Given the description of an element on the screen output the (x, y) to click on. 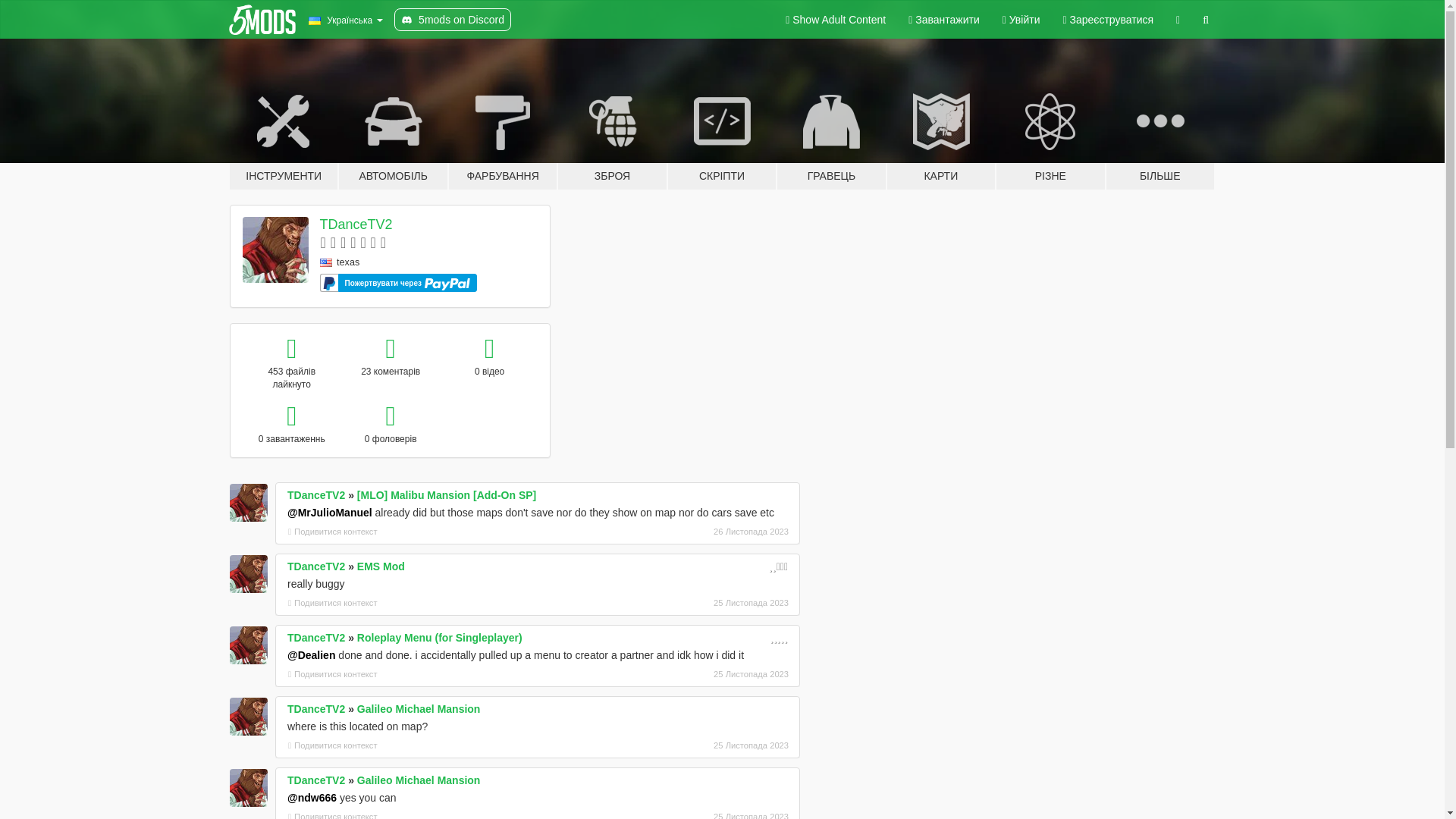
5mods on Discord (452, 19)
Show Adult Content (835, 19)
Light mode (835, 19)
